Given the description of an element on the screen output the (x, y) to click on. 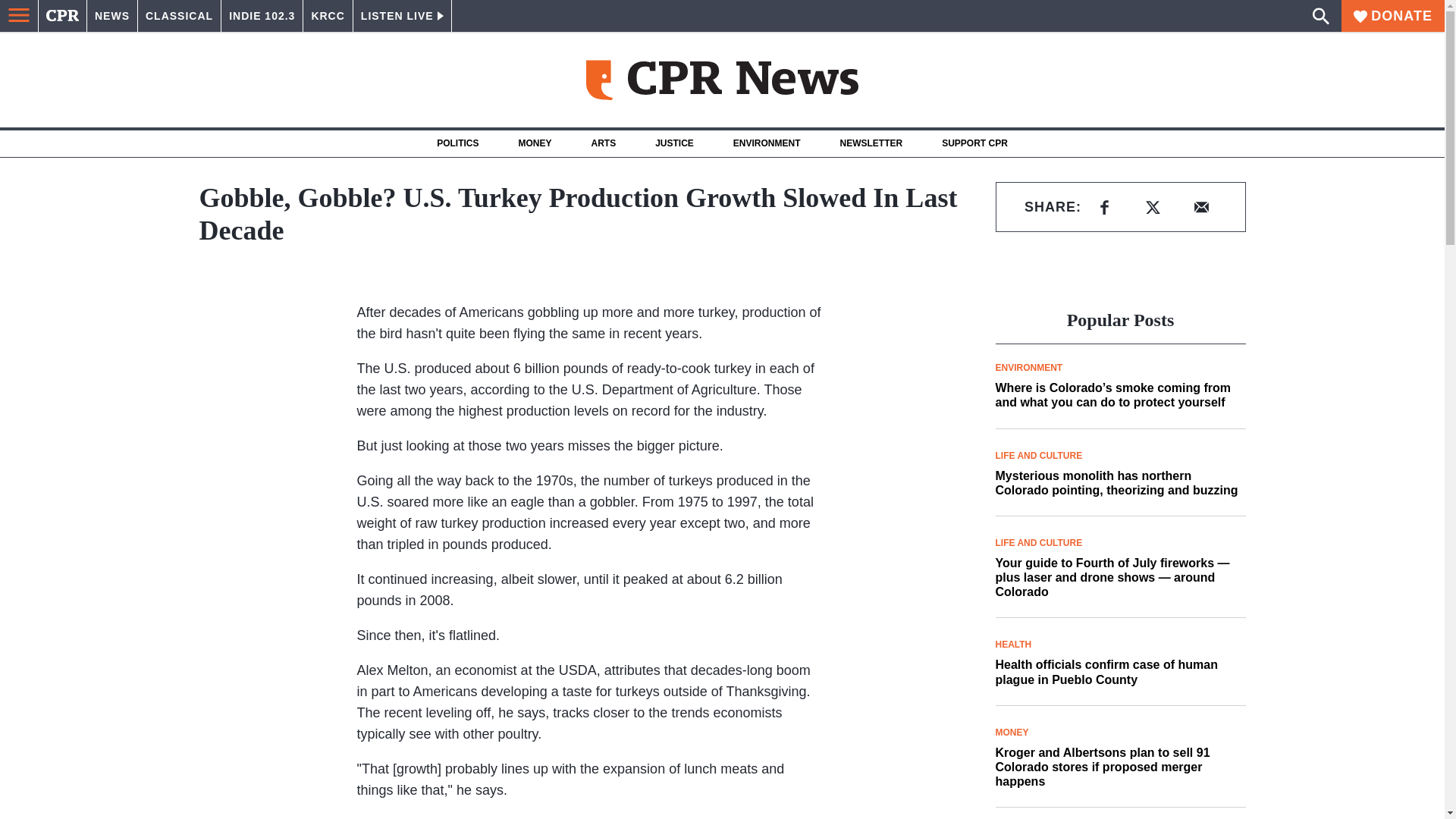
CLASSICAL (179, 15)
NEWS (111, 15)
LISTEN LIVE (402, 15)
INDIE 102.3 (261, 15)
KRCC (327, 15)
